Given the description of an element on the screen output the (x, y) to click on. 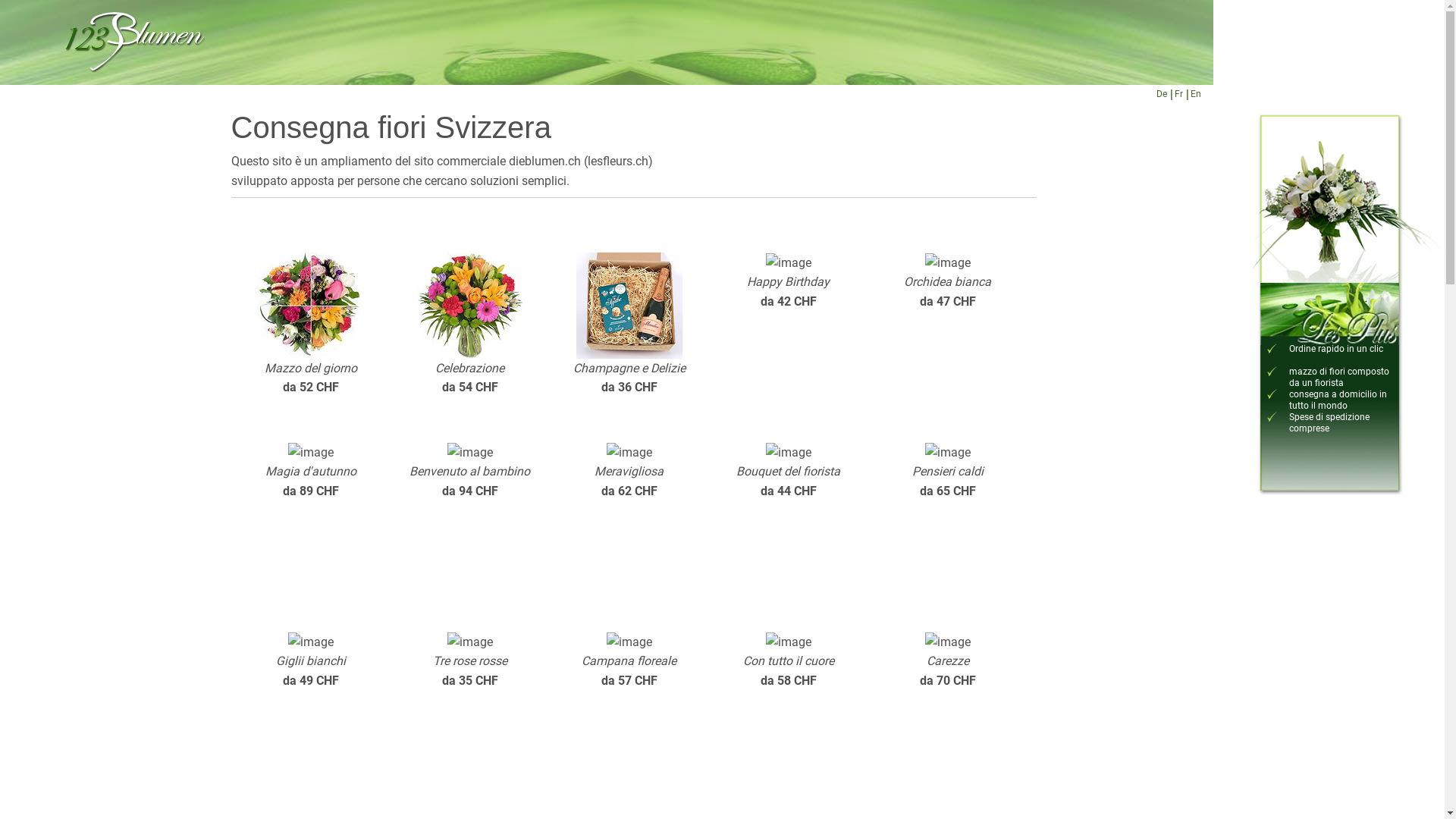
En Element type: text (1195, 94)
Fr Element type: text (1177, 94)
De Element type: text (1160, 94)
